Given the description of an element on the screen output the (x, y) to click on. 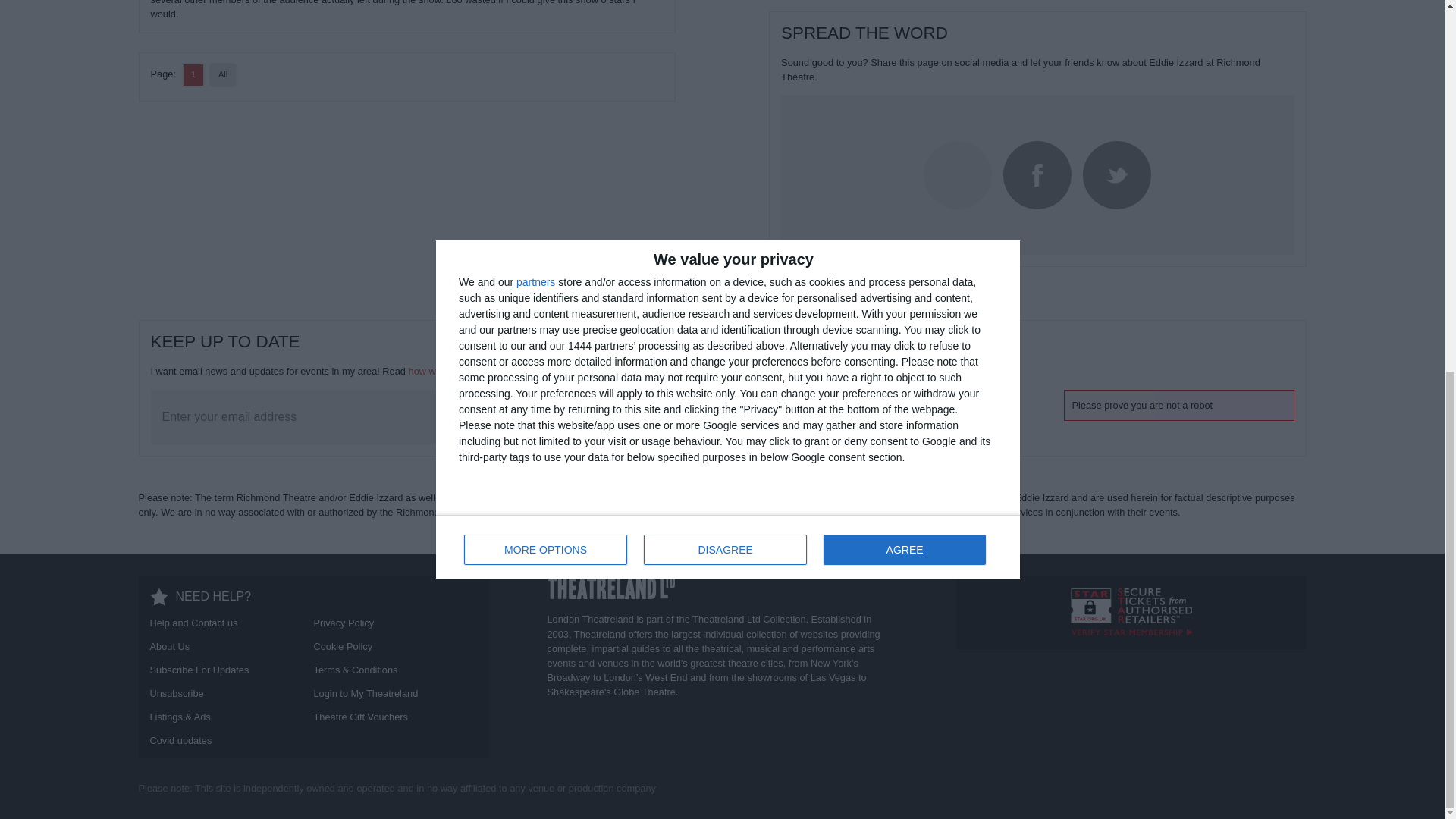
GO (850, 416)
1 (193, 74)
